Given the description of an element on the screen output the (x, y) to click on. 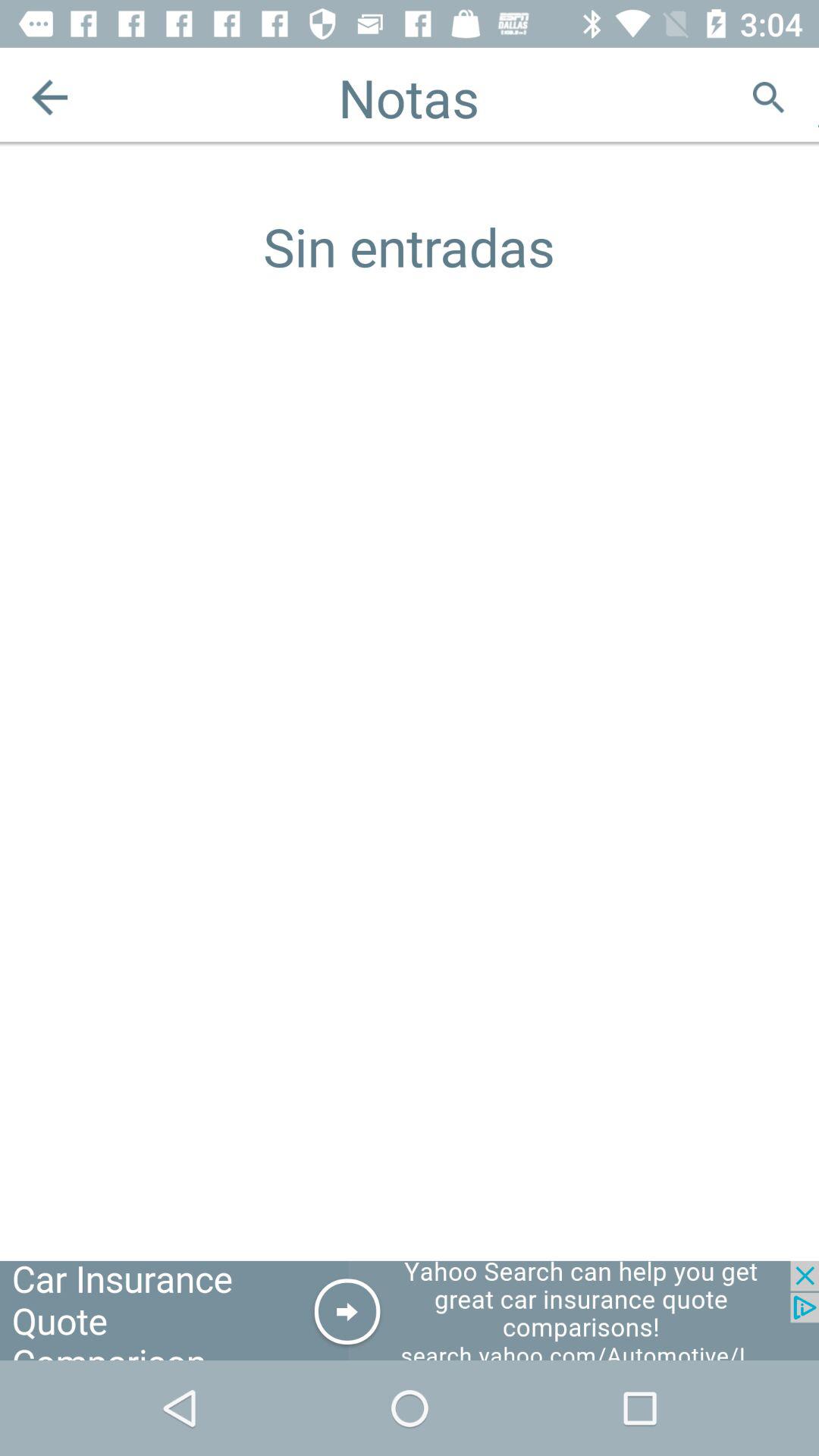
search icon (768, 97)
